Given the description of an element on the screen output the (x, y) to click on. 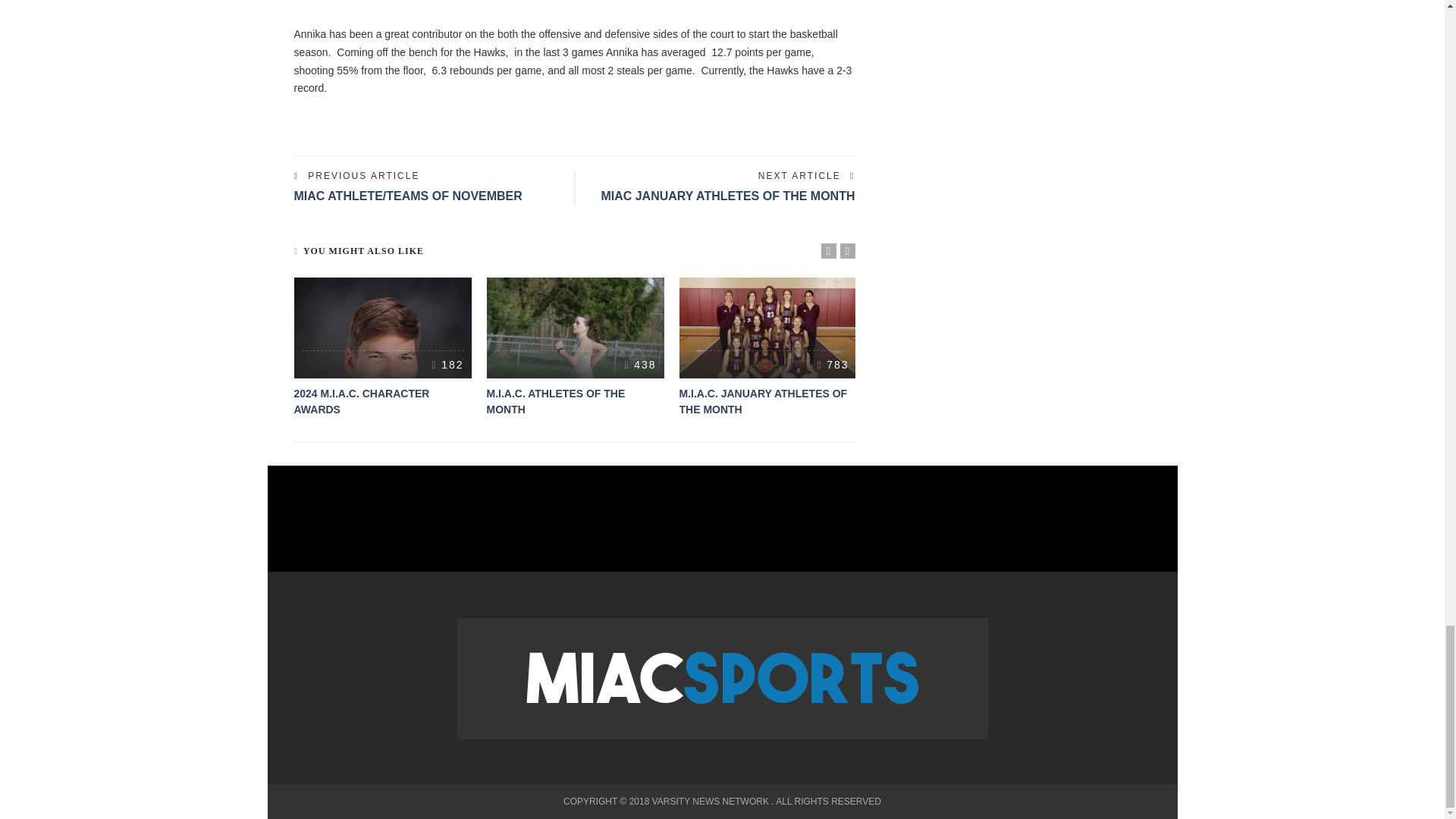
MIAC January Athletes of the Month (726, 195)
2024 M.I.A.C. Character Awards (447, 364)
2024 M.I.A.C. Character Awards (382, 328)
2024 M.I.A.C. Character Awards (361, 401)
M.I.A.C. Athletes of the Month (574, 328)
